Given the description of an element on the screen output the (x, y) to click on. 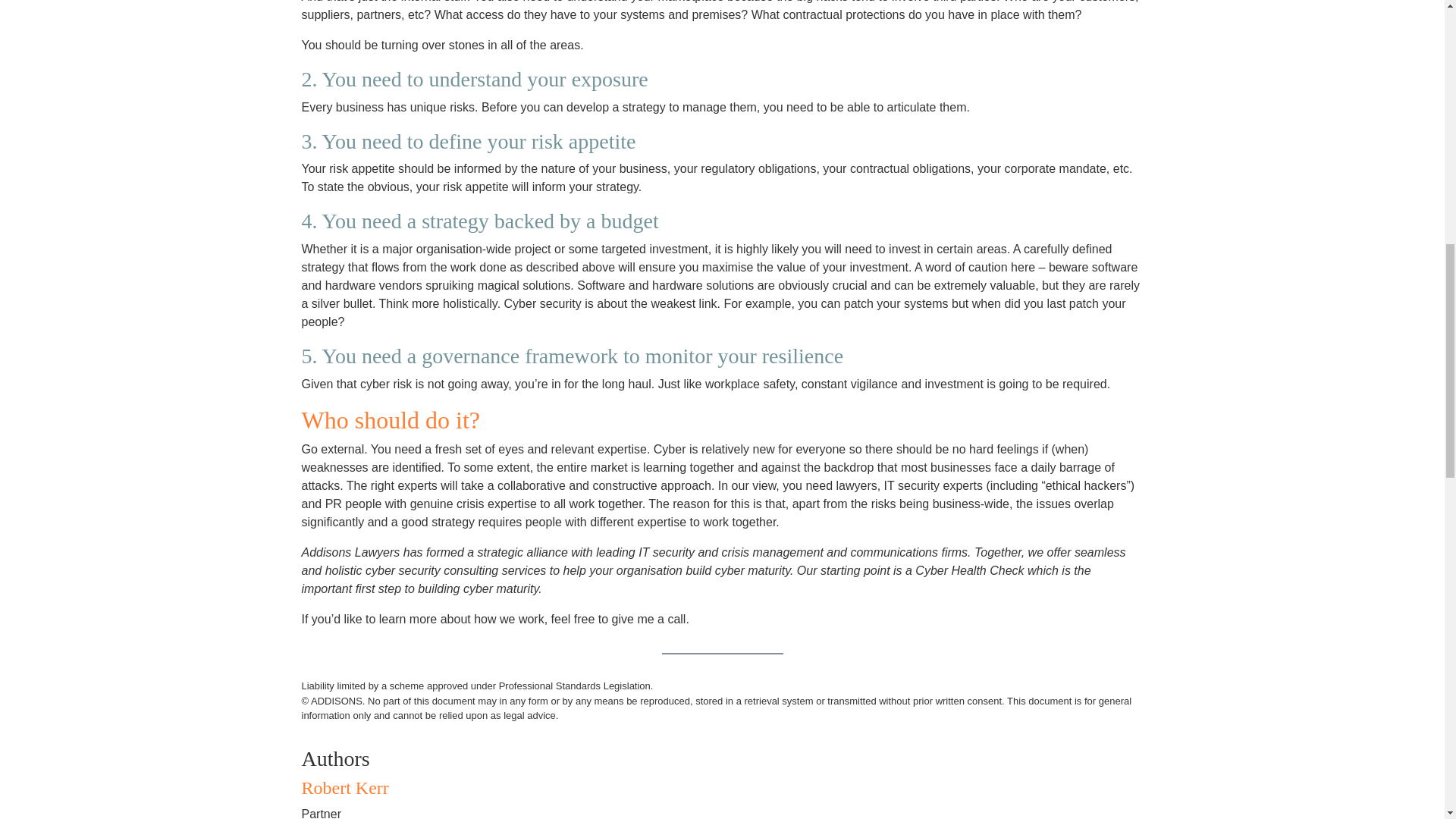
Robert Kerr (344, 787)
